Given the description of an element on the screen output the (x, y) to click on. 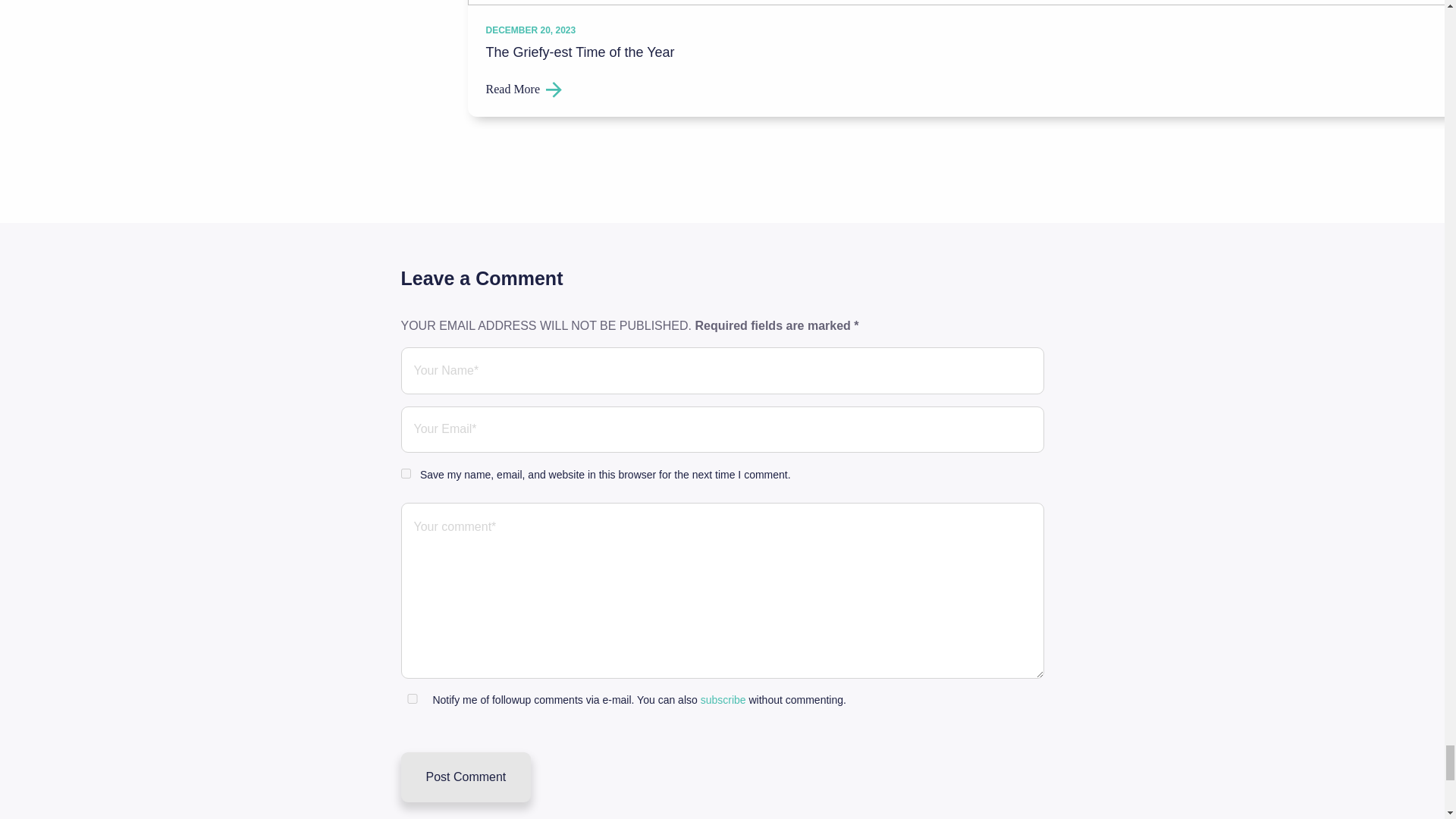
yes (411, 698)
Post Comment (465, 777)
yes (405, 473)
